Given the description of an element on the screen output the (x, y) to click on. 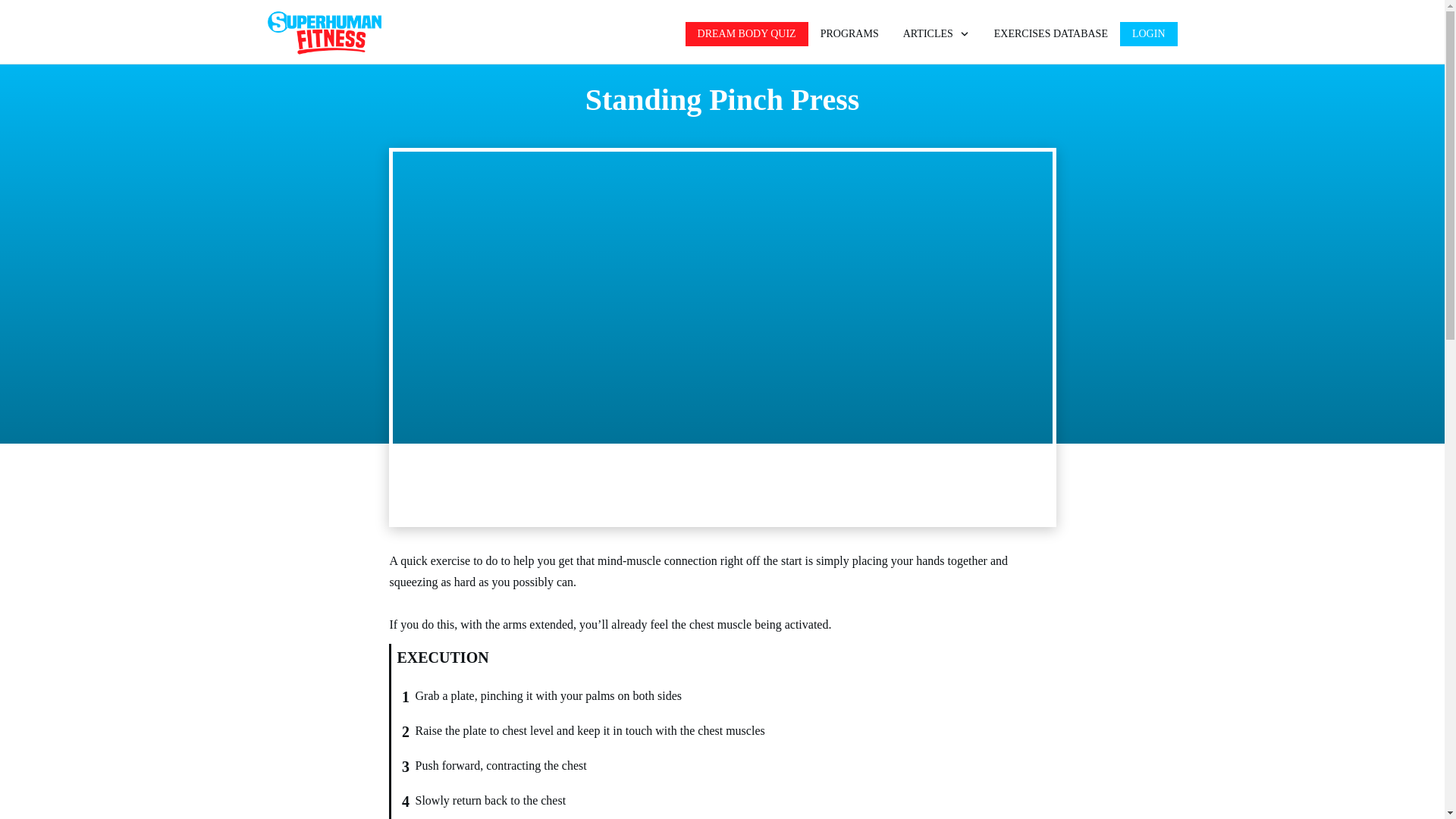
ARTICLES (935, 34)
DREAM BODY QUIZ (746, 34)
Superhuman Fitness Logo (323, 33)
EXERCISES DATABASE (1051, 34)
PROGRAMS (850, 34)
LOGIN (1149, 34)
